Given the description of an element on the screen output the (x, y) to click on. 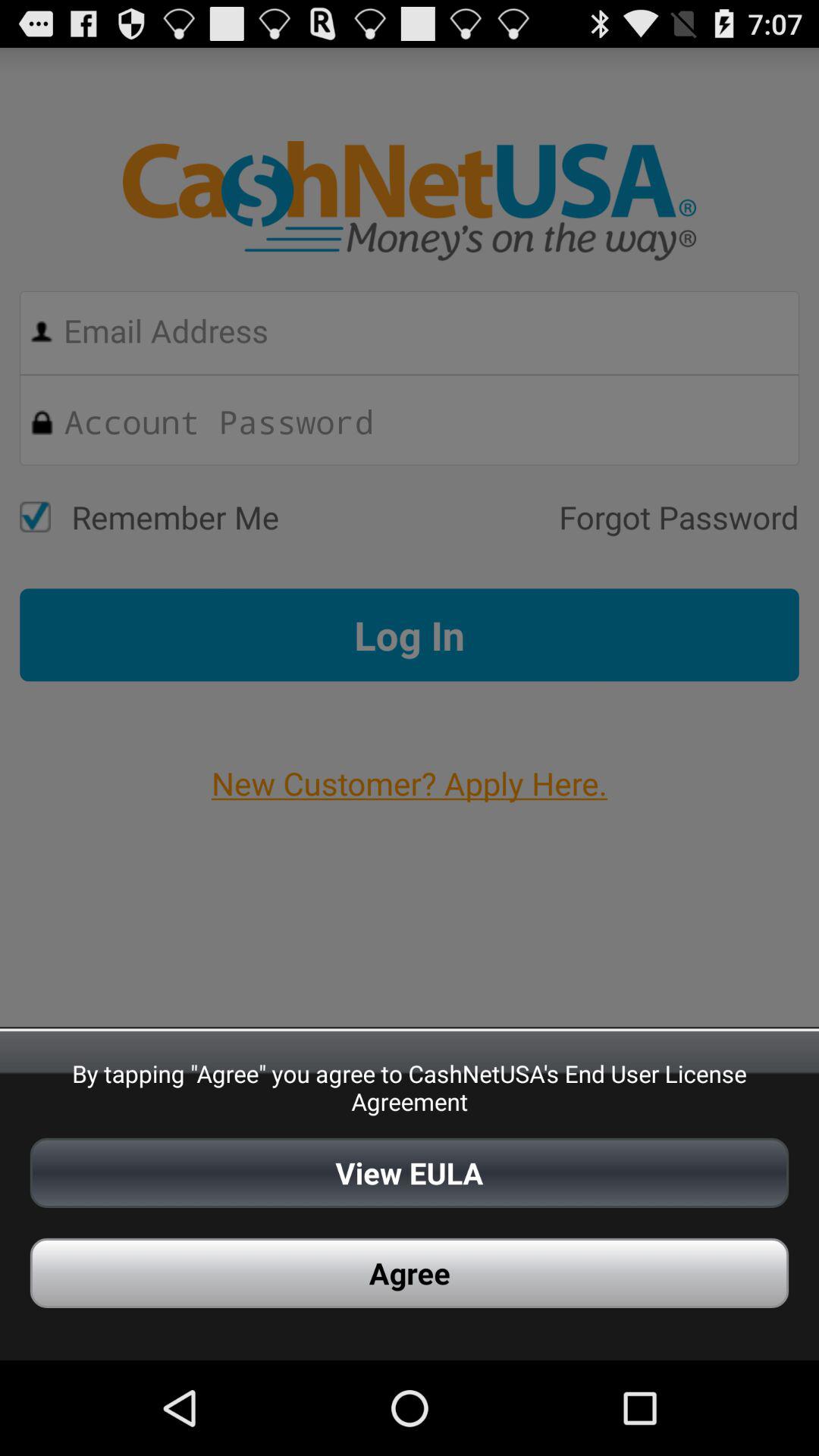
jump to view eula (409, 1173)
